Given the description of an element on the screen output the (x, y) to click on. 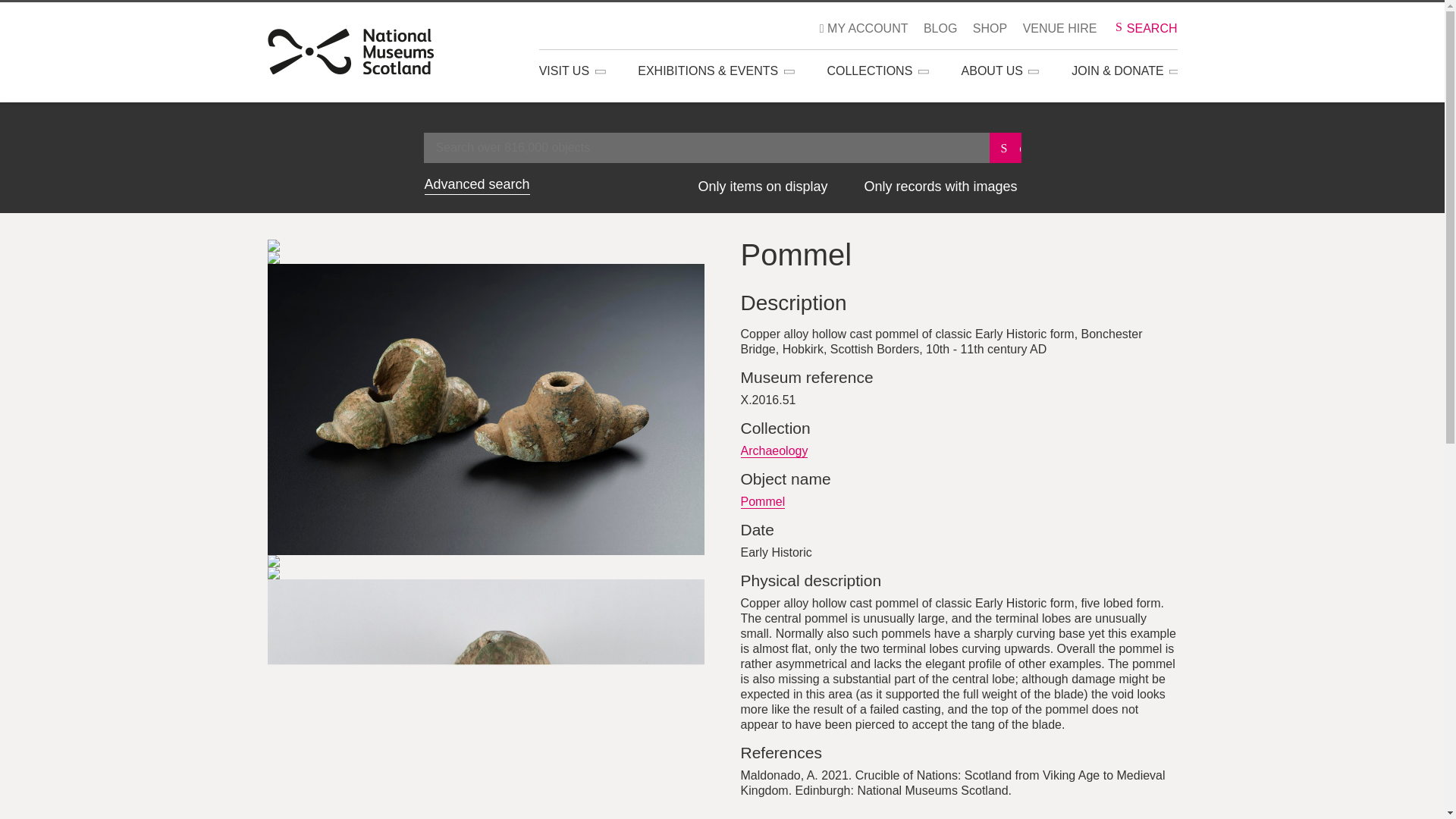
Go to homepage (349, 47)
NMS Logo (349, 51)
Search (1006, 147)
